Given the description of an element on the screen output the (x, y) to click on. 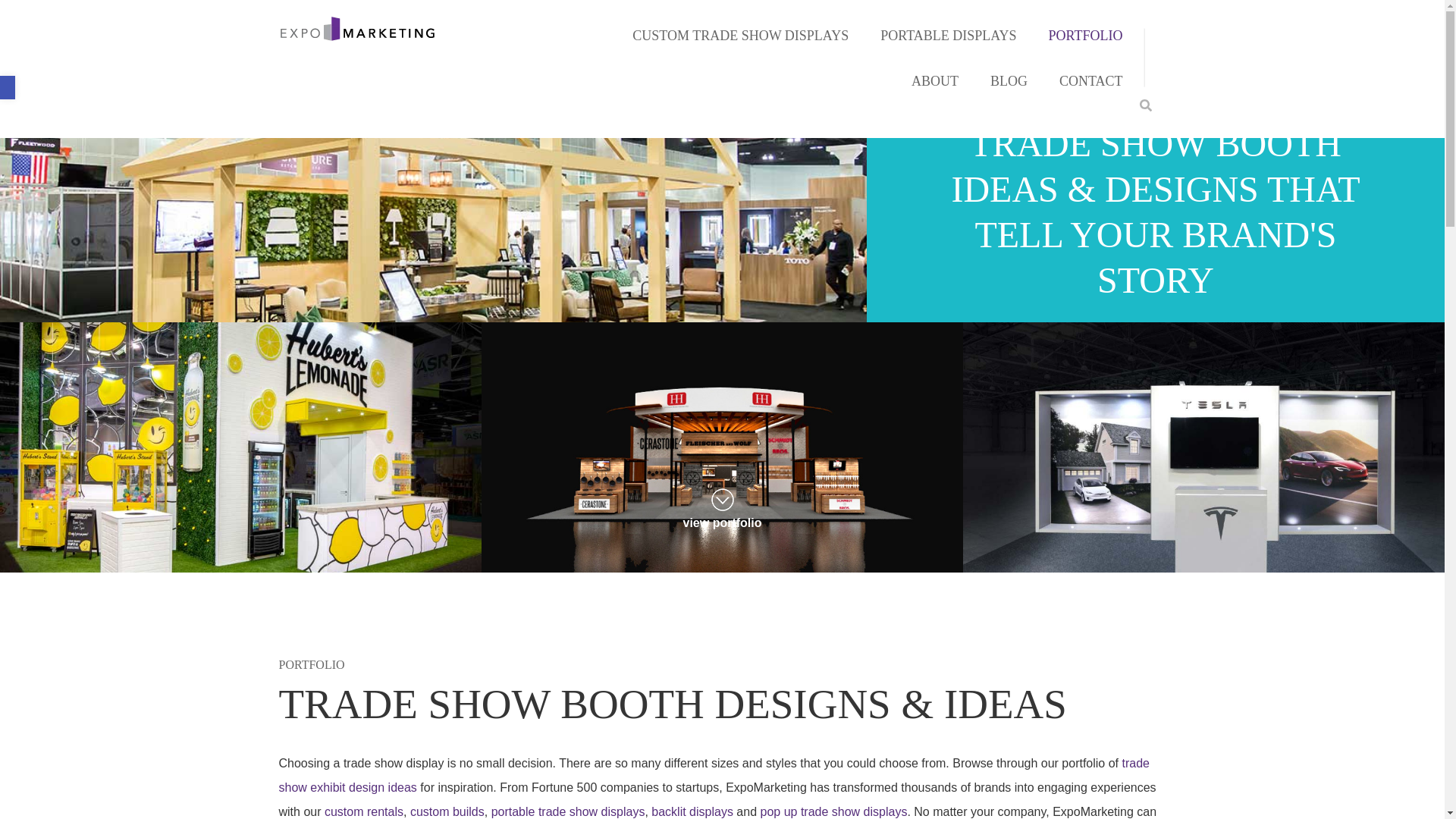
PORTABLE DISPLAYS (948, 34)
ABOUT (934, 80)
CUSTOM TRADE SHOW DISPLAYS (741, 34)
BLOG (1008, 80)
PORTFOLIO (1085, 34)
